Given the description of an element on the screen output the (x, y) to click on. 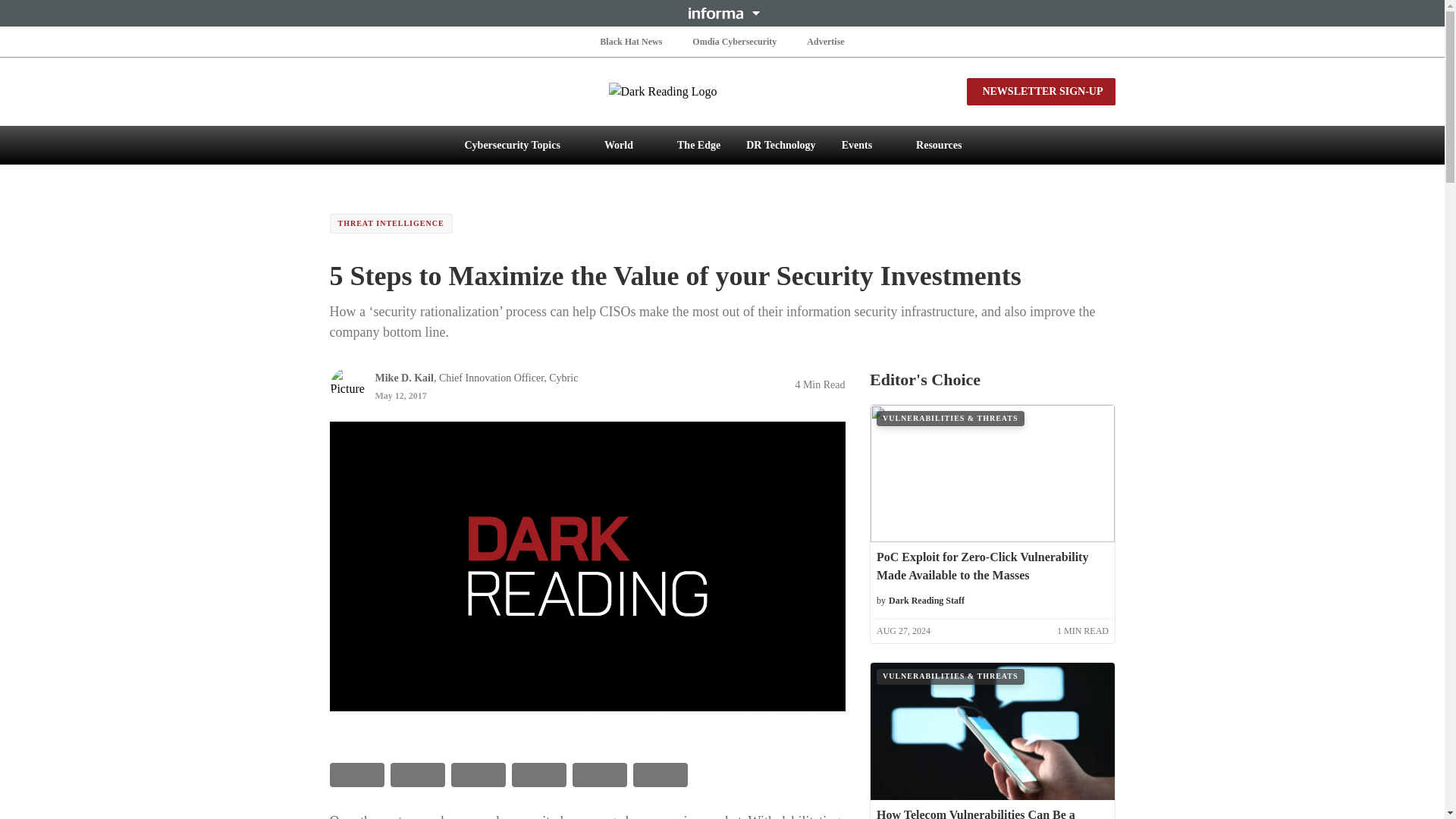
Dark Reading Logo (721, 91)
Omdia Cybersecurity (733, 41)
NEWSLETTER SIGN-UP (1040, 90)
Advertise (825, 41)
Picture of Mike D. Kail (347, 384)
Black Hat News (630, 41)
